Given the description of an element on the screen output the (x, y) to click on. 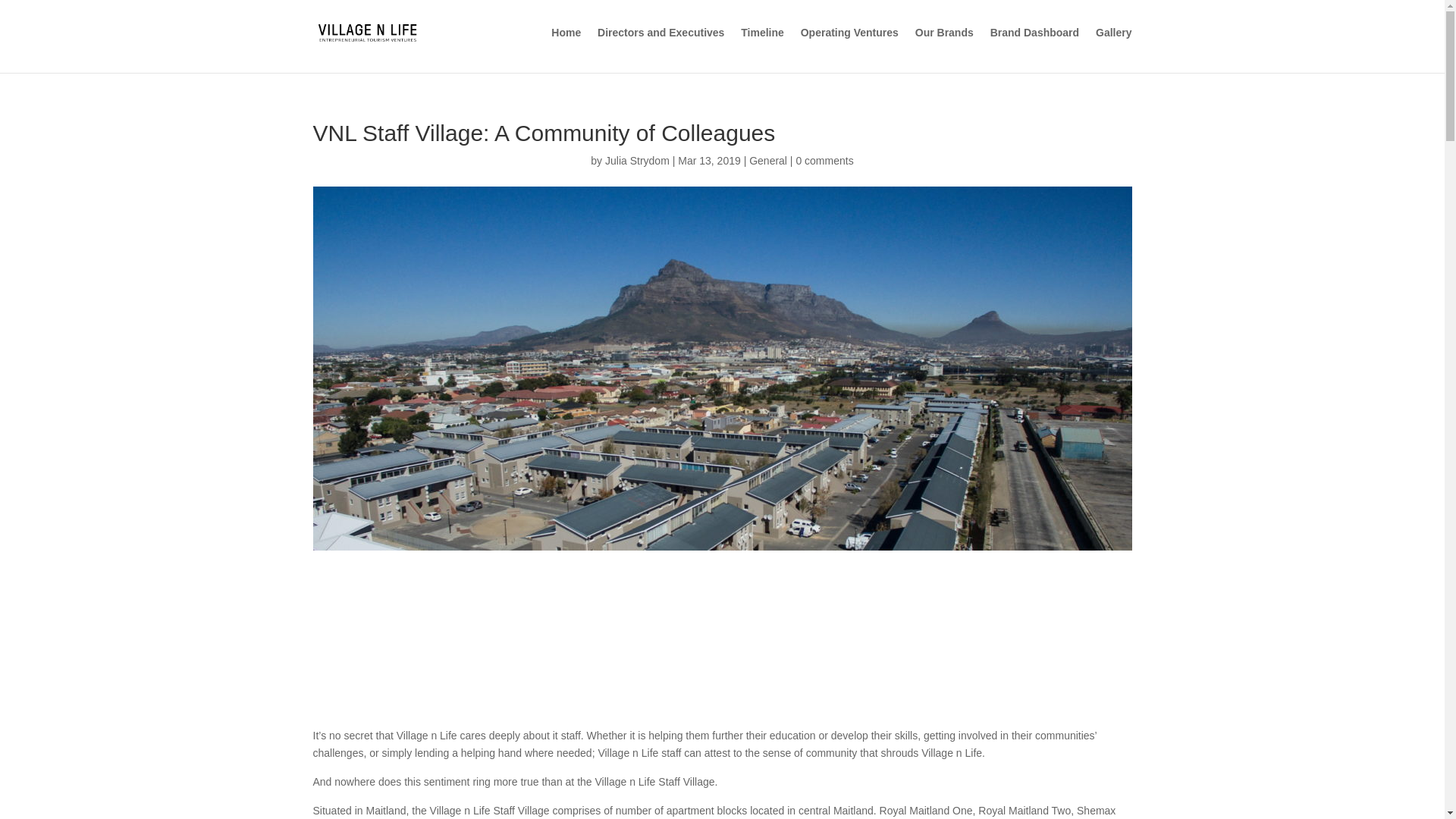
Gallery (1113, 46)
Julia Strydom (637, 160)
0 comments (823, 160)
Brand Dashboard (1034, 46)
Our Brands (944, 46)
General (768, 160)
Timeline (762, 46)
Posts by Julia Strydom (637, 160)
Operating Ventures (849, 46)
Directors and Executives (659, 46)
